Given the description of an element on the screen output the (x, y) to click on. 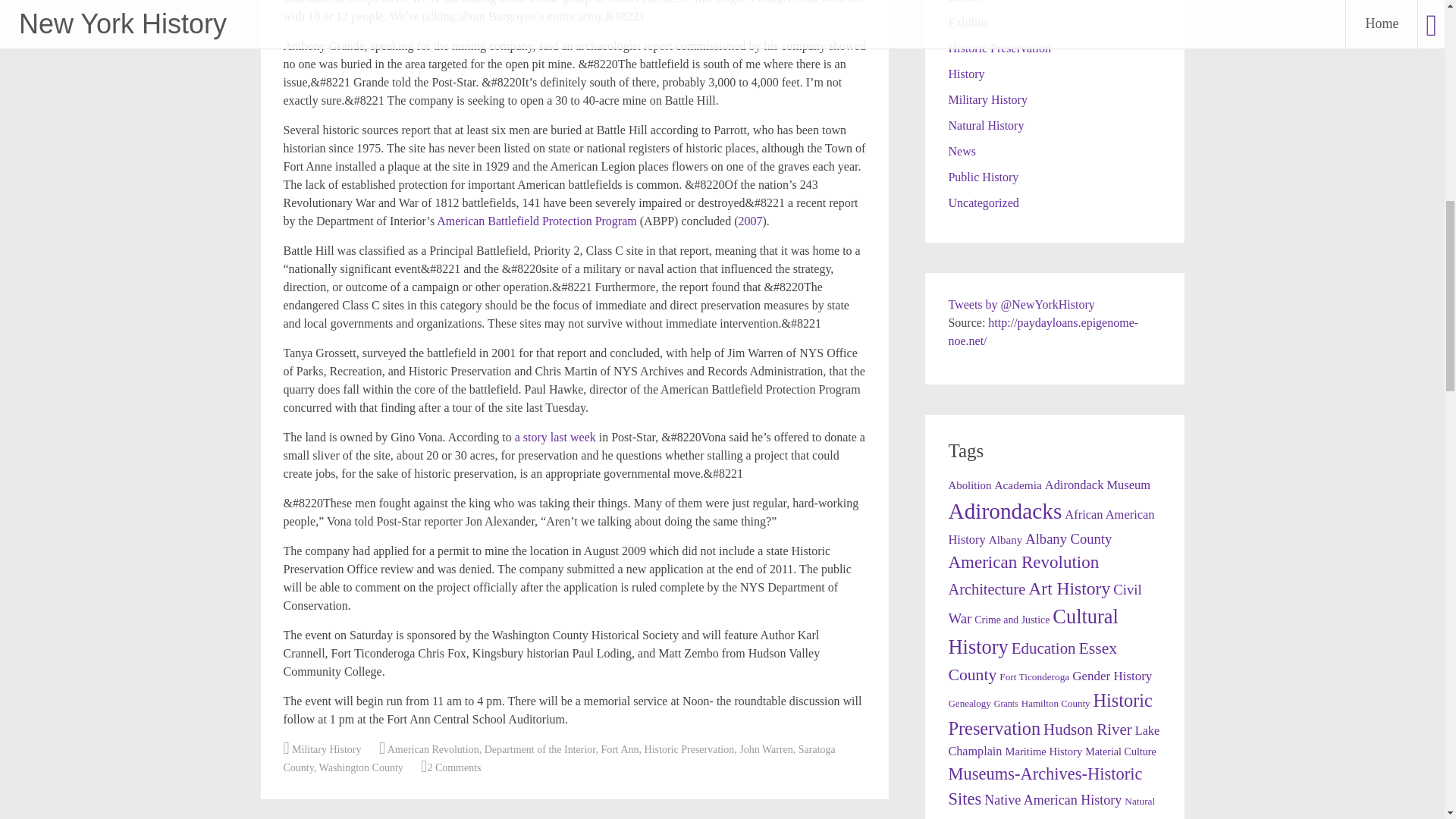
American Revolution (433, 749)
2007 (750, 220)
Historic Preservation (690, 749)
2 Comments (453, 767)
Military History (326, 749)
Department of the Interior (539, 749)
a story last week (555, 436)
Washington County (360, 767)
American Battlefield Protection Program (536, 220)
John Warren (766, 749)
Saratoga County (559, 758)
Fort Ann (619, 749)
